Given the description of an element on the screen output the (x, y) to click on. 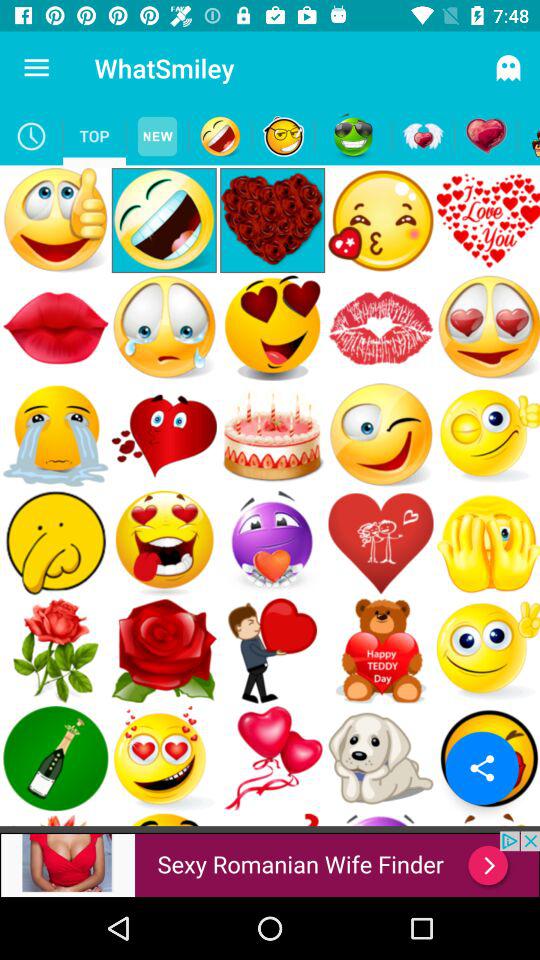
smile with sunglasses tab (353, 136)
